Given the description of an element on the screen output the (x, y) to click on. 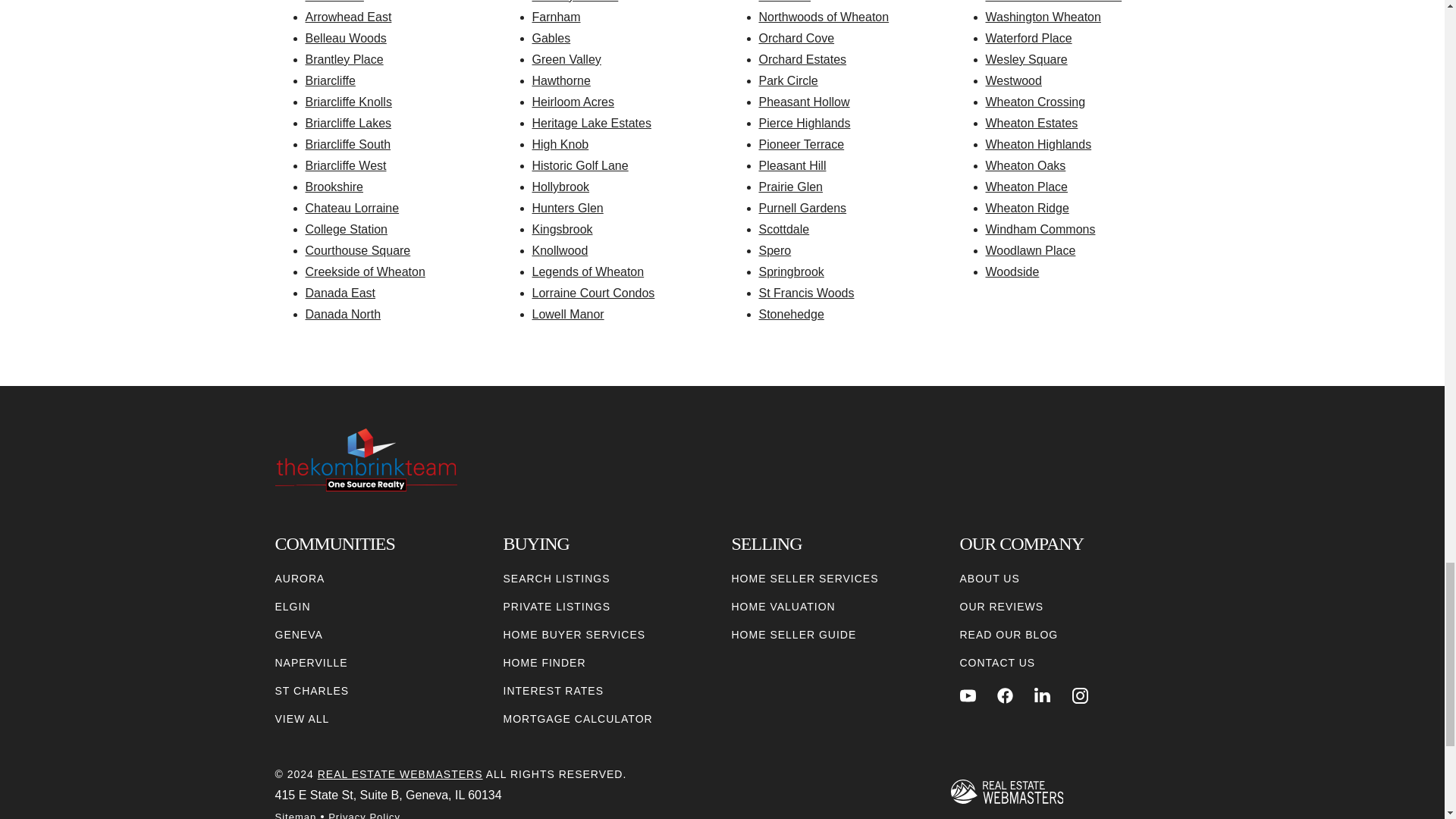
FACEBOOK (1005, 695)
LINKEDIN (1041, 695)
YOUTUBE (967, 695)
